Given the description of an element on the screen output the (x, y) to click on. 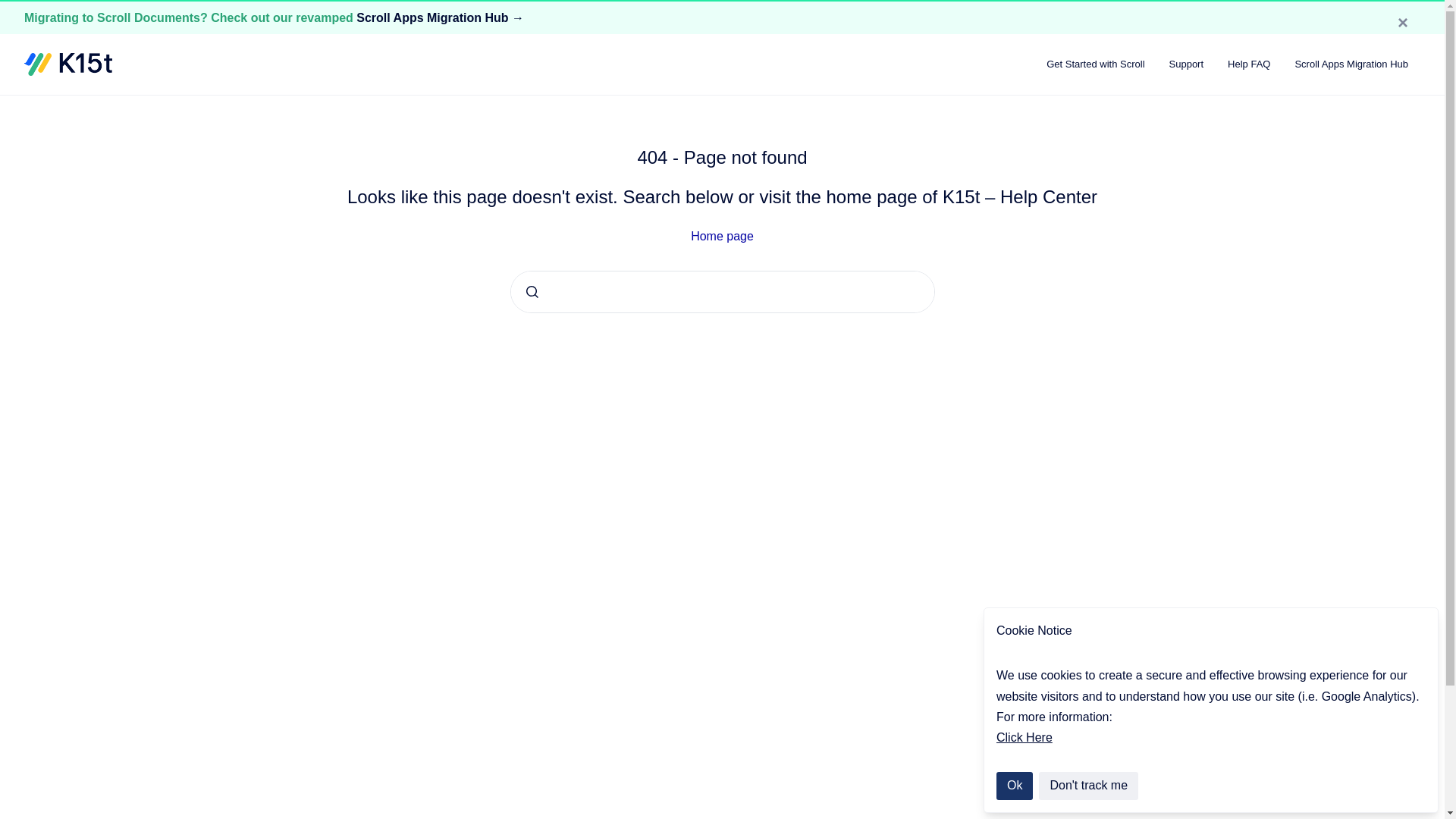
Help FAQ (1248, 64)
Support (1186, 64)
Home page (722, 236)
Ok (1013, 786)
Get Started with Scroll (1094, 64)
Don't track me (1088, 786)
Scroll Apps Migration Hub (1351, 64)
Go to homepage (68, 64)
Click Here (1023, 737)
